Given the description of an element on the screen output the (x, y) to click on. 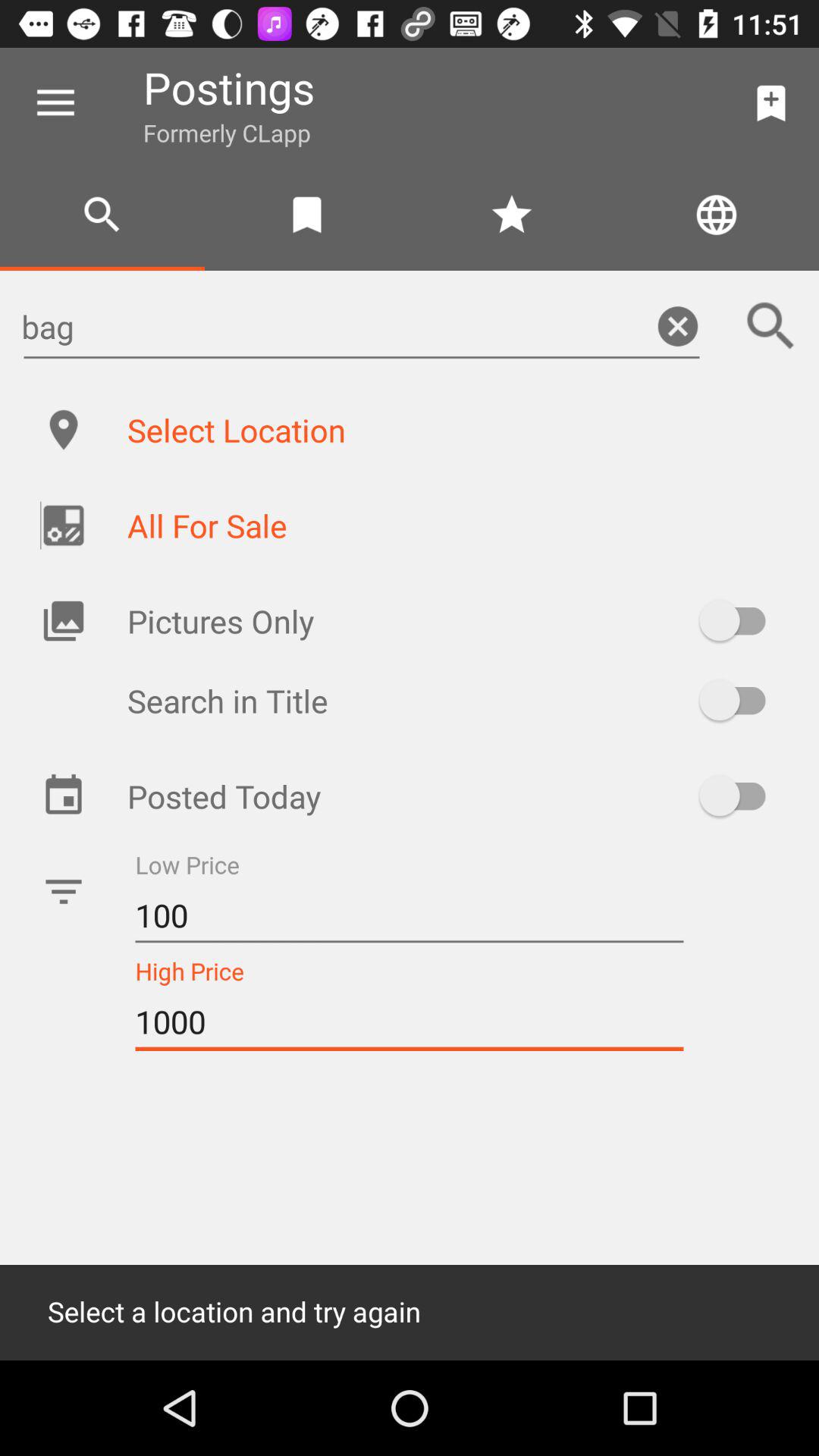
magnifying glass (771, 326)
